Given the description of an element on the screen output the (x, y) to click on. 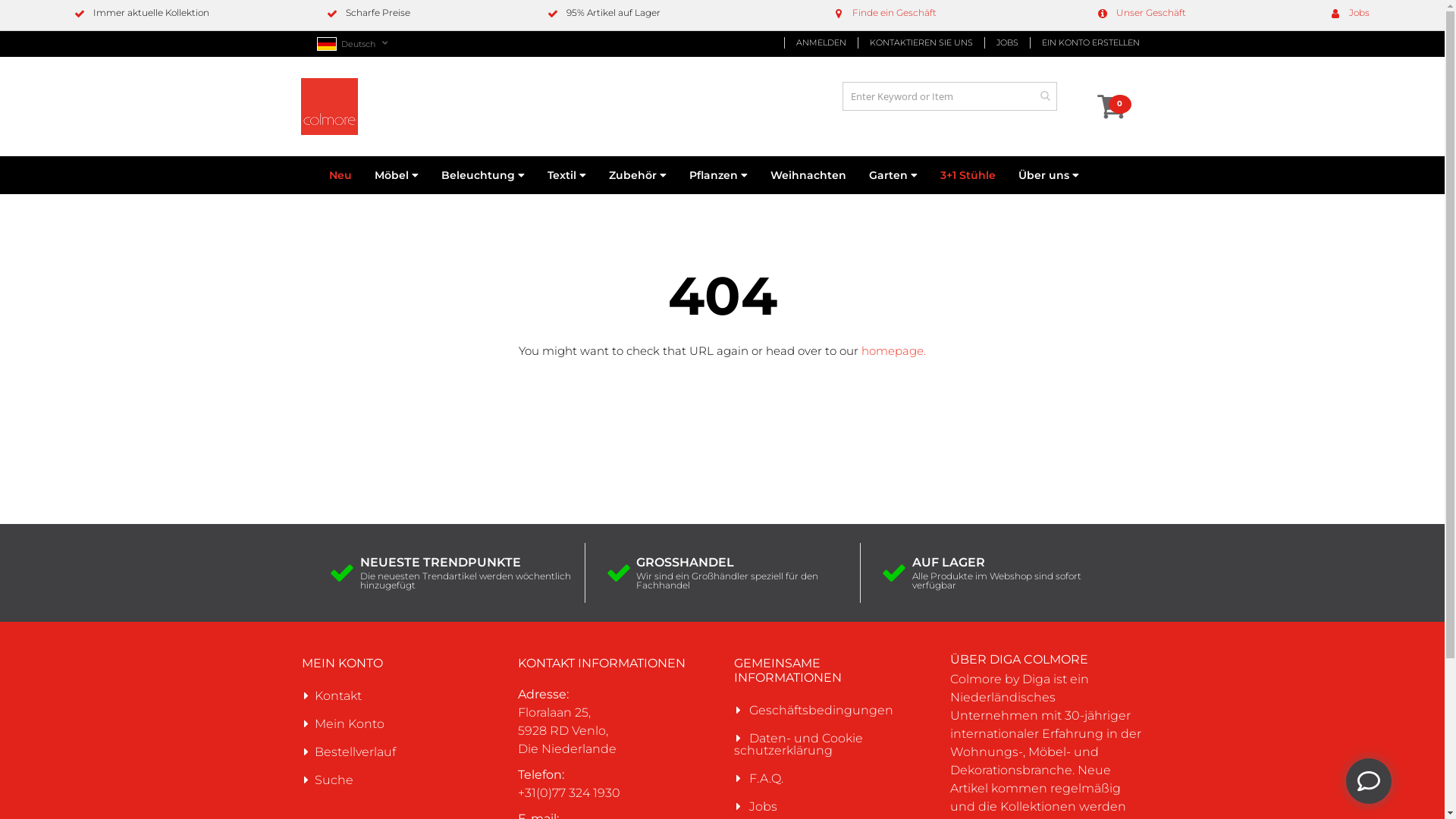
Garten Element type: text (892, 175)
Cart
0 Element type: text (1105, 100)
EIN KONTO ERSTELLEN Element type: text (1084, 42)
Suche Element type: text (333, 779)
Mein Konto Element type: text (349, 723)
F.A.Q. Element type: text (766, 778)
Search Element type: hover (1044, 95)
Textil Element type: text (566, 175)
Colmore collections wholesale by Diga Colmore Element type: hover (328, 106)
JOBS Element type: text (1006, 42)
Beleuchtung Element type: text (482, 175)
Weihnachten Element type: text (808, 175)
Jobs Element type: text (763, 806)
KONTAKTIEREN SIE UNS Element type: text (919, 42)
homepage. Element type: text (893, 350)
Neu Element type: text (340, 175)
Pflanzen Element type: text (718, 175)
ANMELDEN Element type: text (820, 42)
Bestellverlauf Element type: text (354, 751)
Kontakt Element type: text (337, 695)
Jobs Element type: text (1359, 12)
